Given the description of an element on the screen output the (x, y) to click on. 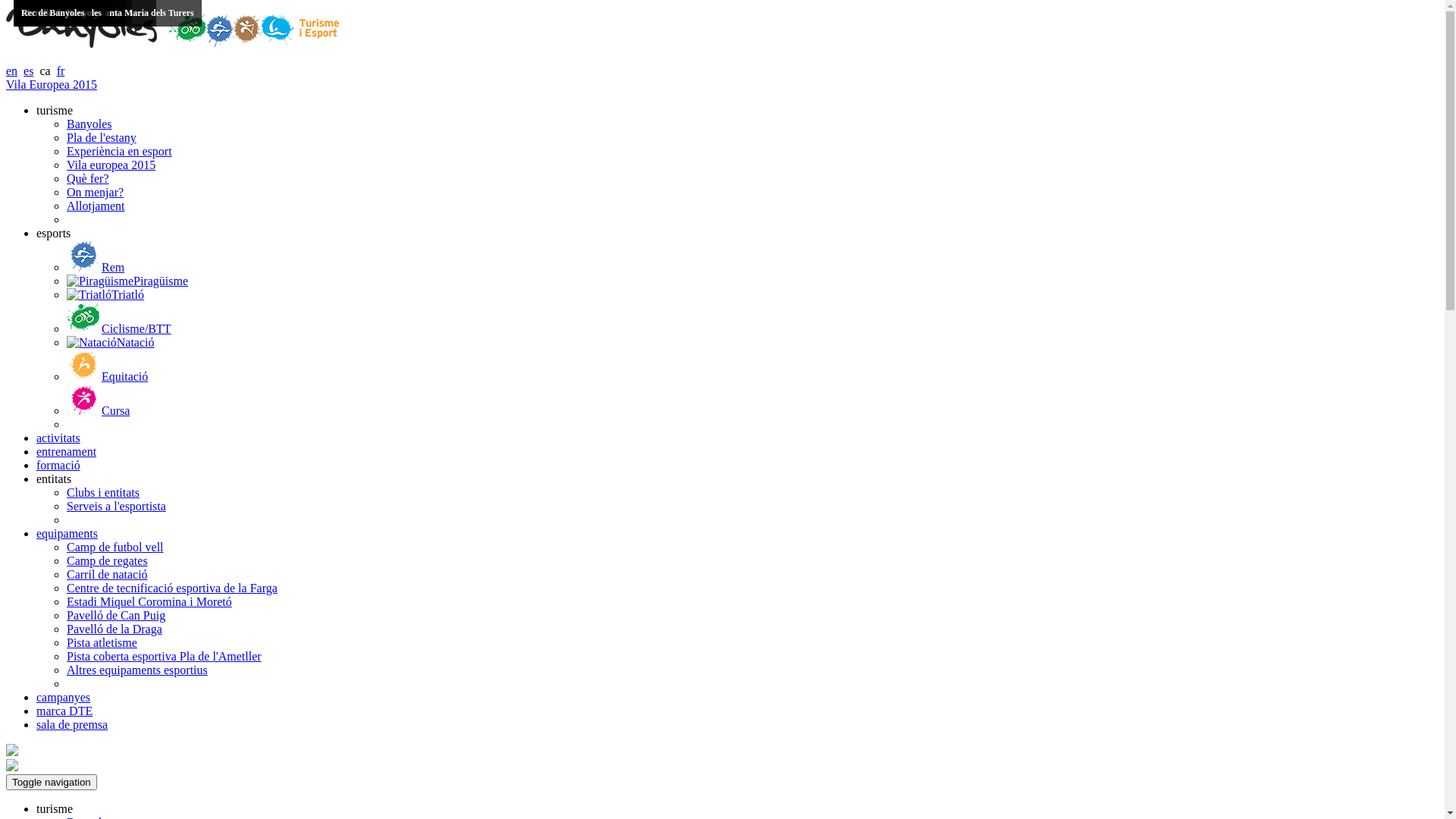
es Element type: text (28, 70)
equipaments Element type: text (66, 533)
Camp de regates Element type: text (106, 560)
en Element type: text (11, 70)
Turisme i Esport  Element type: hover (172, 43)
Pista atletisme Element type: text (101, 642)
Pista coberta esportiva Pla de l'Ametller Element type: text (163, 655)
sala de premsa Element type: text (71, 724)
Serveis a l'esportista Element type: text (116, 505)
Altres equipaments esportius Element type: text (136, 669)
Camp de futbol vell Element type: text (114, 546)
fr Element type: text (60, 70)
Clubs i entitats Element type: text (102, 492)
Pla de l'estany Element type: text (101, 137)
turisme Element type: text (54, 109)
Banyoles Element type: text (89, 123)
Cursa Element type: text (97, 410)
Vila europea 2015 Element type: text (110, 164)
esports Element type: text (53, 232)
Ciclisme/BTT Element type: text (118, 328)
marca DTE Element type: text (64, 710)
Rem Element type: text (95, 266)
Allotjament Element type: text (95, 205)
campanyes Element type: text (63, 696)
activitats Element type: text (58, 437)
Vila Europea 2015 Element type: text (51, 84)
turisme Element type: text (54, 808)
On menjar? Element type: text (94, 191)
entrenament Element type: text (66, 451)
Toggle navigation Element type: text (51, 782)
entitats Element type: text (53, 478)
